Given the description of an element on the screen output the (x, y) to click on. 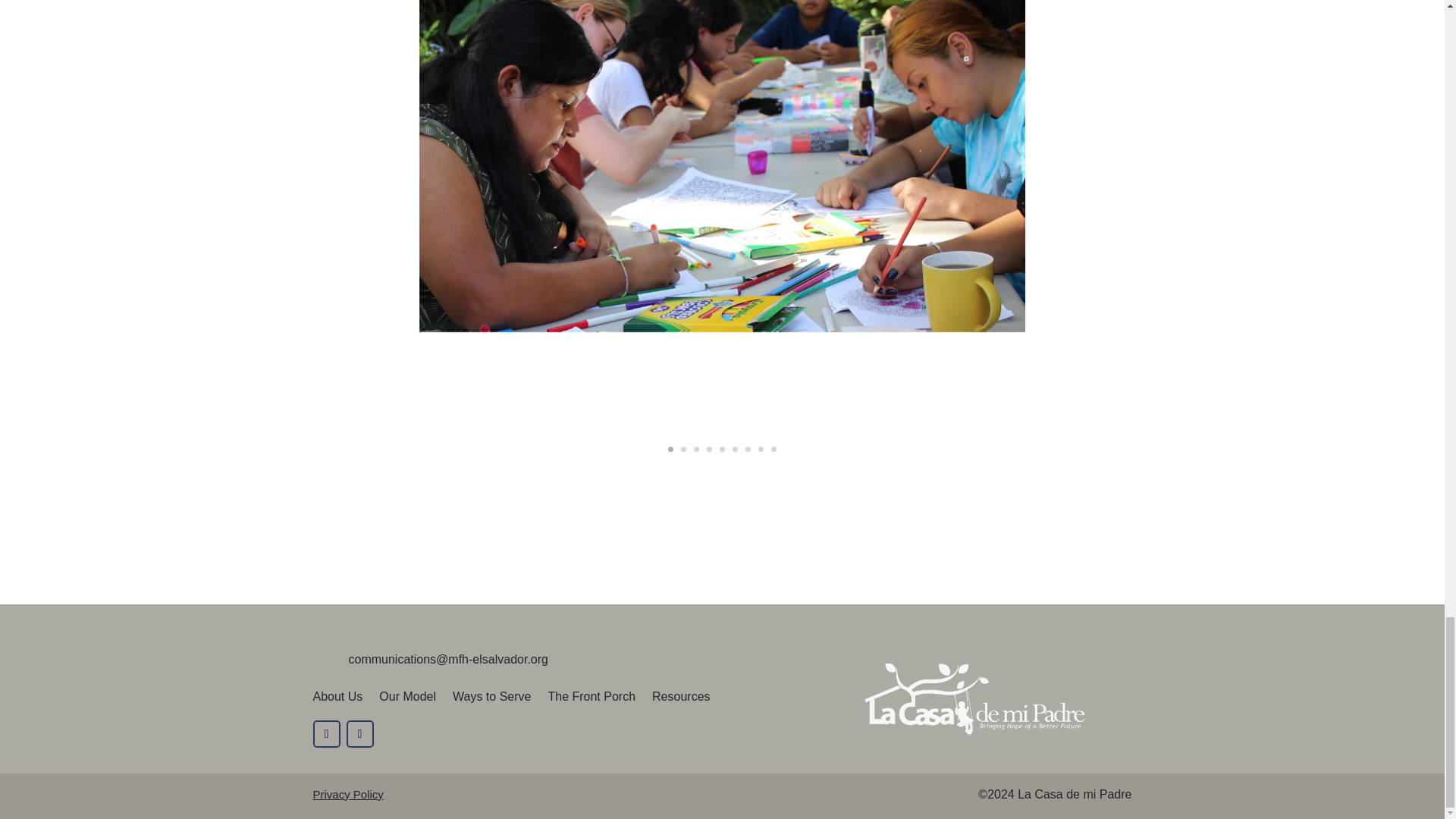
Follow on Instagram (359, 733)
Our Model (406, 699)
Ways to Serve (491, 699)
About Us (337, 699)
Follow on Facebook (326, 733)
5 (722, 449)
Resources (681, 699)
6 (735, 449)
7 (748, 449)
The Front Porch (590, 699)
4 (708, 449)
